Given the description of an element on the screen output the (x, y) to click on. 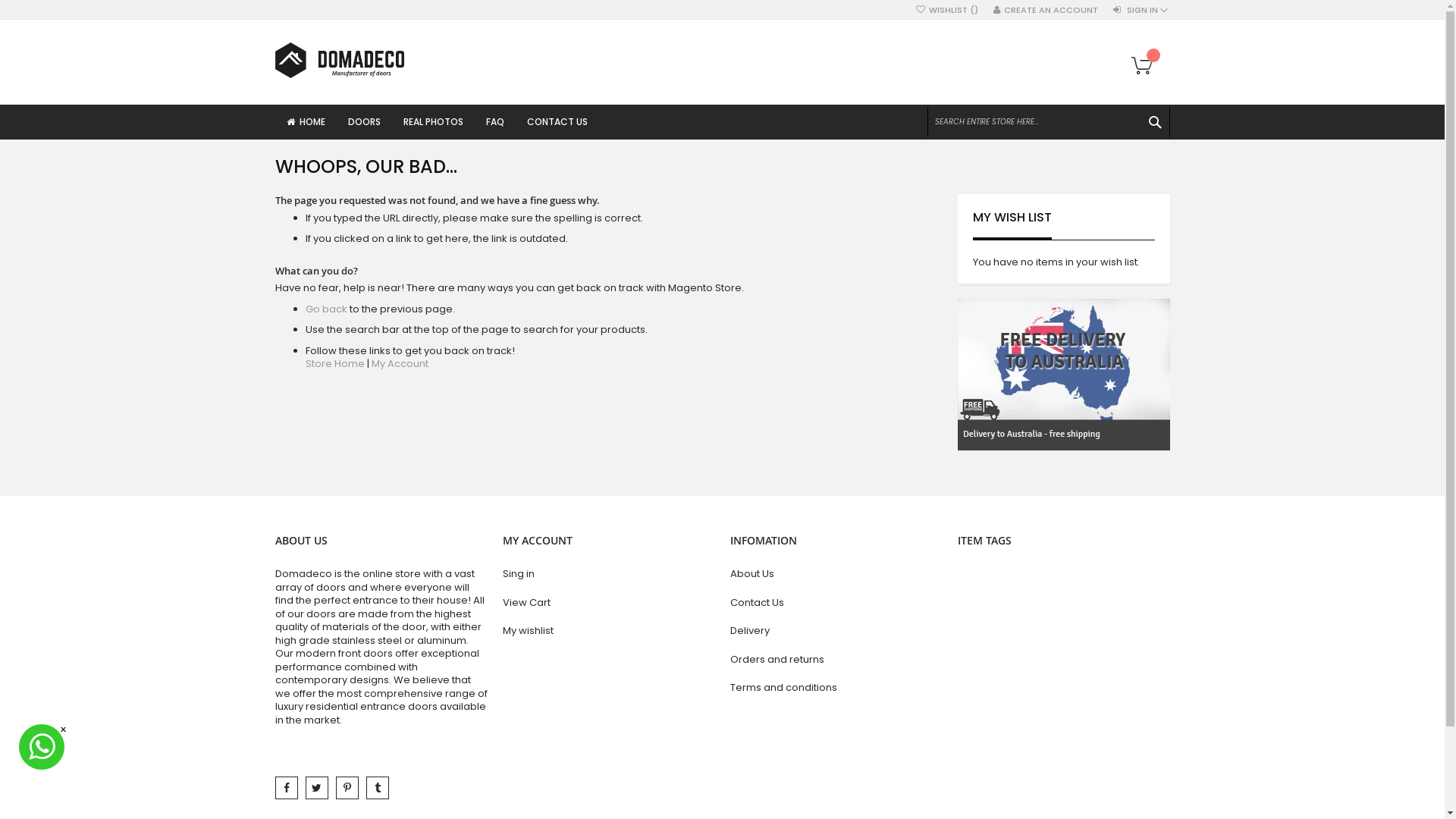
  Element type: text (346, 787)
My Account Element type: text (399, 363)
Terms and conditions Element type: text (835, 687)
  Element type: text (315, 787)
My Bag Element type: text (1147, 65)
Domadeco Front Aluminium & Steel Door  Element type: hover (338, 60)
WISHLIST Element type: text (947, 9)
  Element type: text (285, 787)
CONTACT US Element type: text (557, 121)
HOME Element type: text (304, 121)
About Us Element type: text (835, 573)
  Element type: text (376, 787)
CREATE AN ACCOUNT Element type: text (1045, 9)
View Cart Element type: text (608, 602)
Go back Element type: text (325, 308)
Contact Us Element type: text (835, 602)
Skip to Content Element type: text (274, 3)
REAL PHOTOS Element type: text (432, 121)
Orders and returns Element type: text (835, 659)
DOORS Element type: text (364, 121)
FAQ Element type: text (494, 121)
Store Home Element type: text (334, 363)
Delivery Element type: text (835, 630)
Close WhatsApp Contact Element type: hover (62, 729)
SEARCH Element type: text (1154, 121)
Sing in Element type: text (608, 573)
My wishlist Element type: text (608, 630)
